Given the description of an element on the screen output the (x, y) to click on. 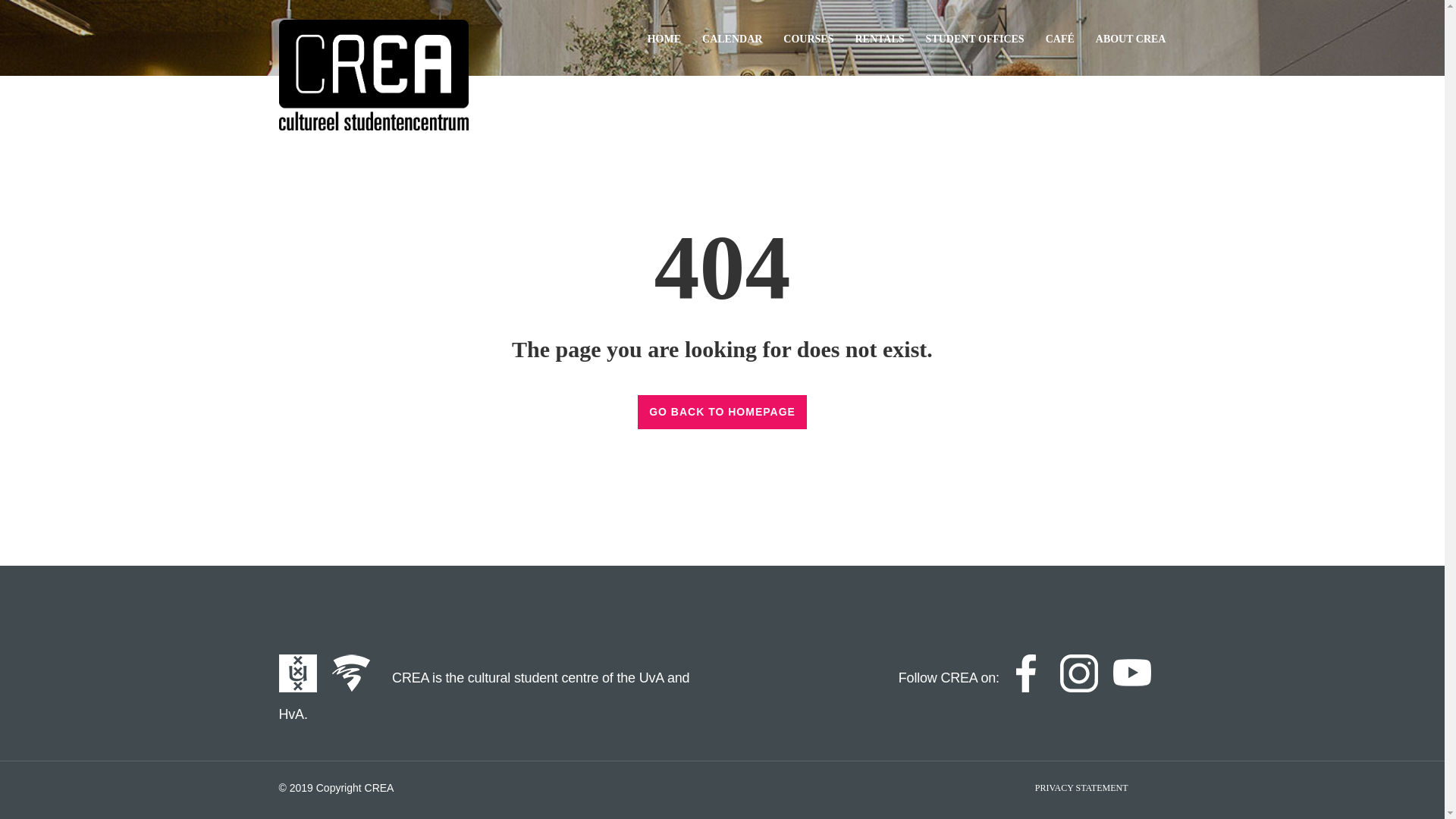
CALENDAR (731, 39)
HOME (664, 39)
COURSES (807, 39)
